Given the description of an element on the screen output the (x, y) to click on. 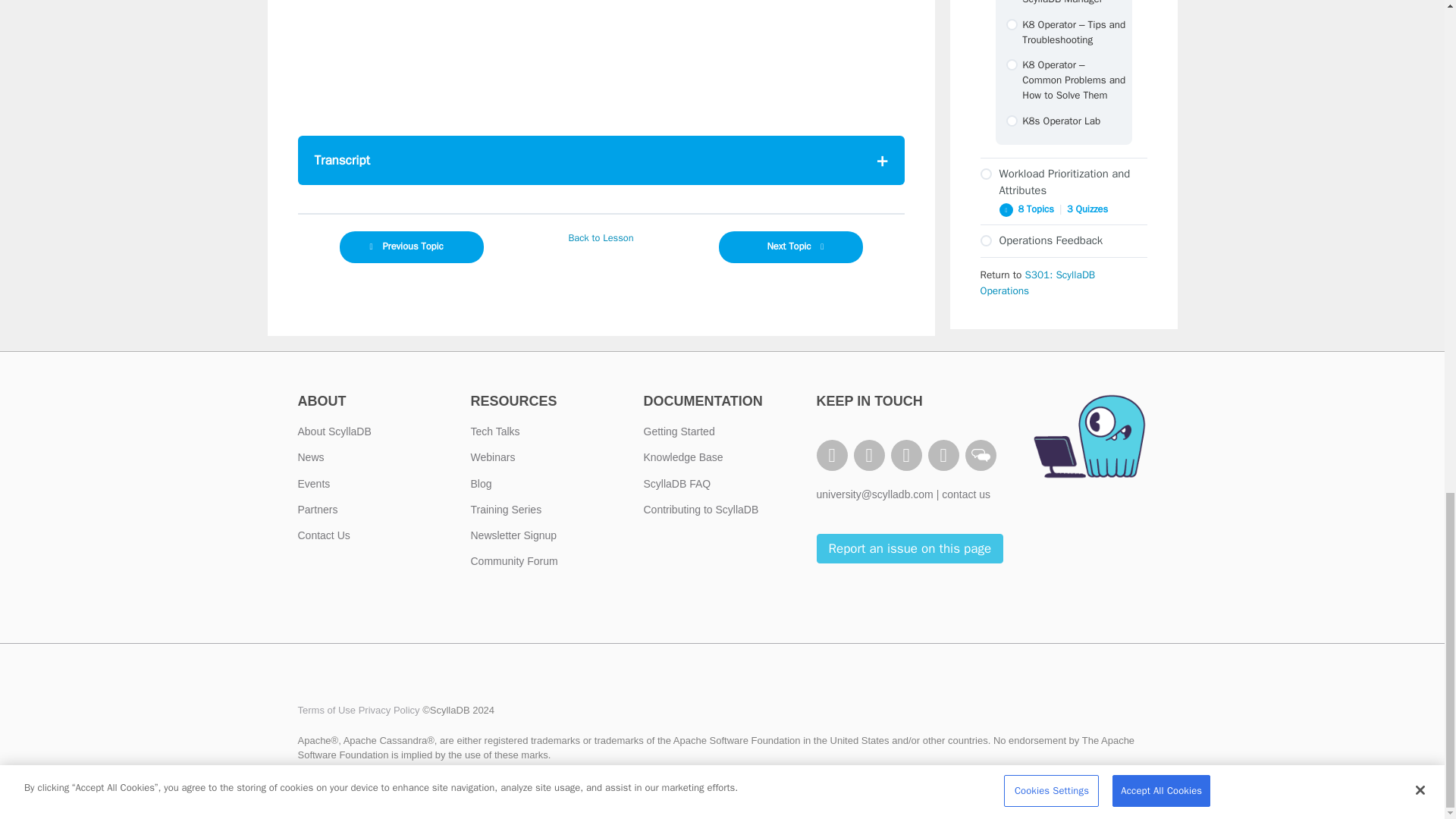
Back to Lesson (600, 237)
Next Topic (791, 246)
Previous Topic (411, 246)
